Given the description of an element on the screen output the (x, y) to click on. 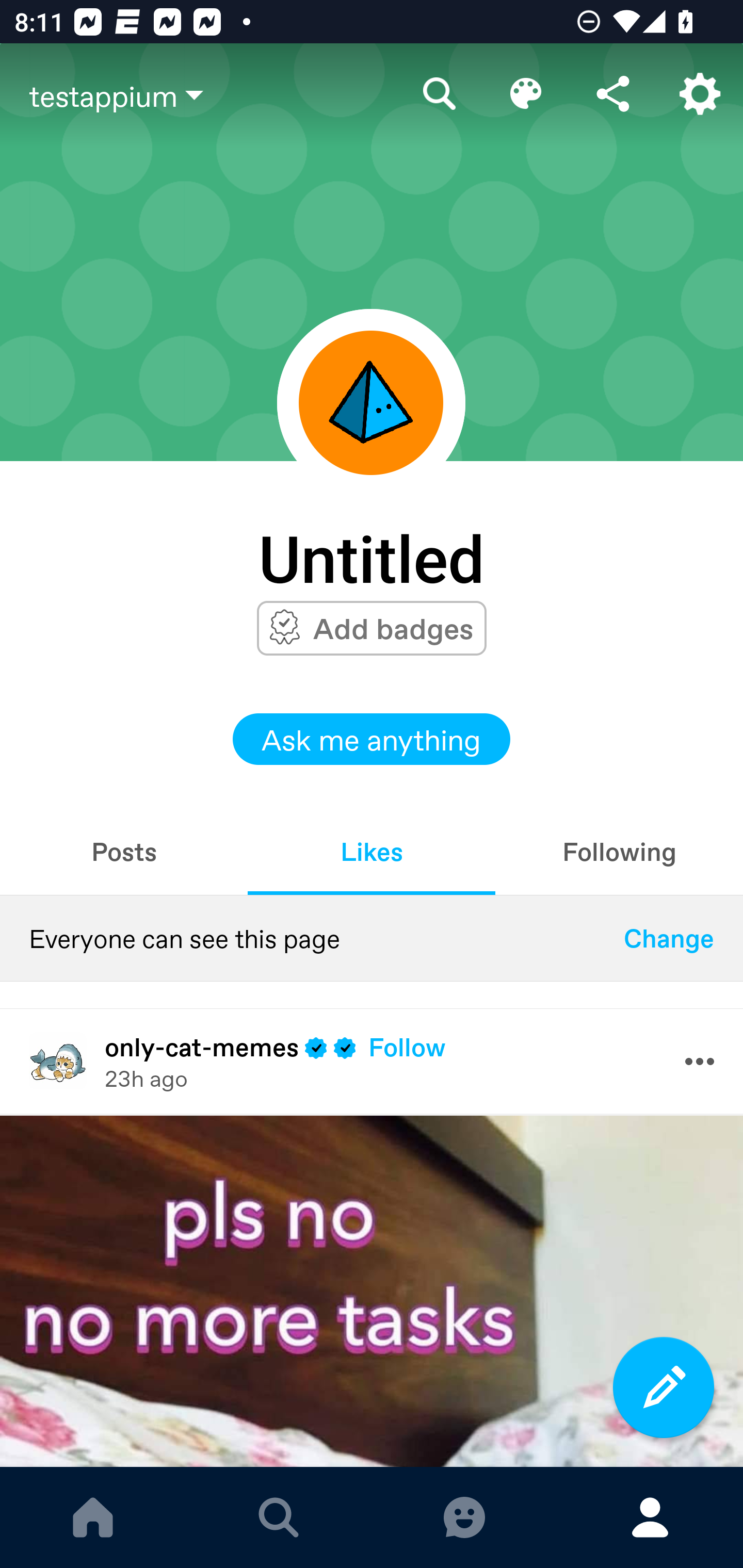
testappium (212, 95)
Search blog (439, 93)
Edit (525, 93)
Share (612, 93)
Account (699, 93)
Avatar frame (371, 402)
Add badges (393, 627)
Ask me anything (371, 739)
Posts (123, 851)
Following (619, 851)
Change (669, 938)
Follow (406, 1046)
Compose a new post (663, 1387)
DASHBOARD (92, 1517)
EXPLORE (278, 1517)
MESSAGES (464, 1517)
ACCOUNT (650, 1517)
